Given the description of an element on the screen output the (x, y) to click on. 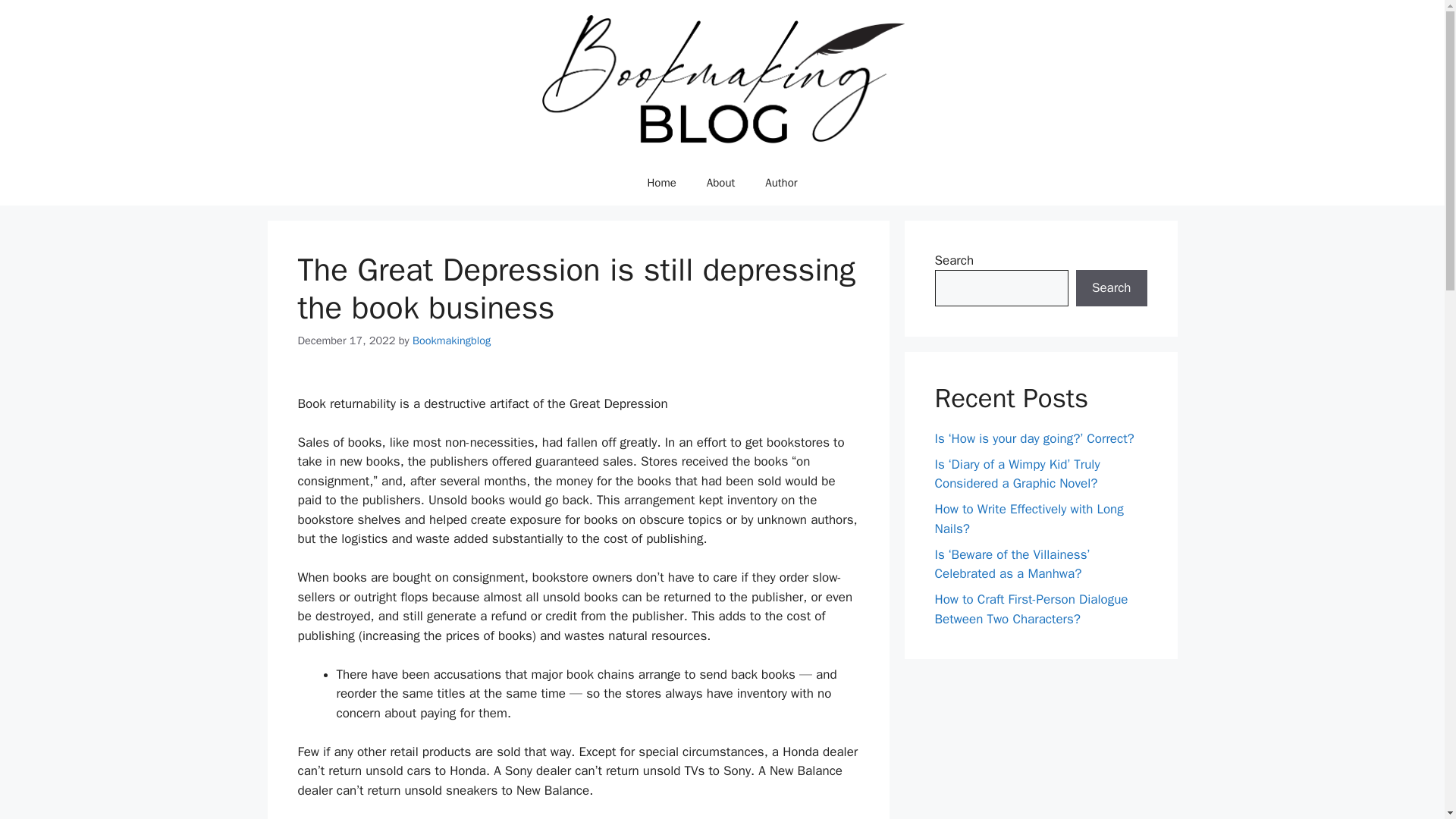
Author (780, 182)
Bookmakingblog (451, 340)
How to Craft First-Person Dialogue Between Two Characters? (1030, 609)
Search (1111, 288)
Home (660, 182)
About (720, 182)
How to Write Effectively with Long Nails? (1028, 519)
View all posts by Bookmakingblog (451, 340)
